Given the description of an element on the screen output the (x, y) to click on. 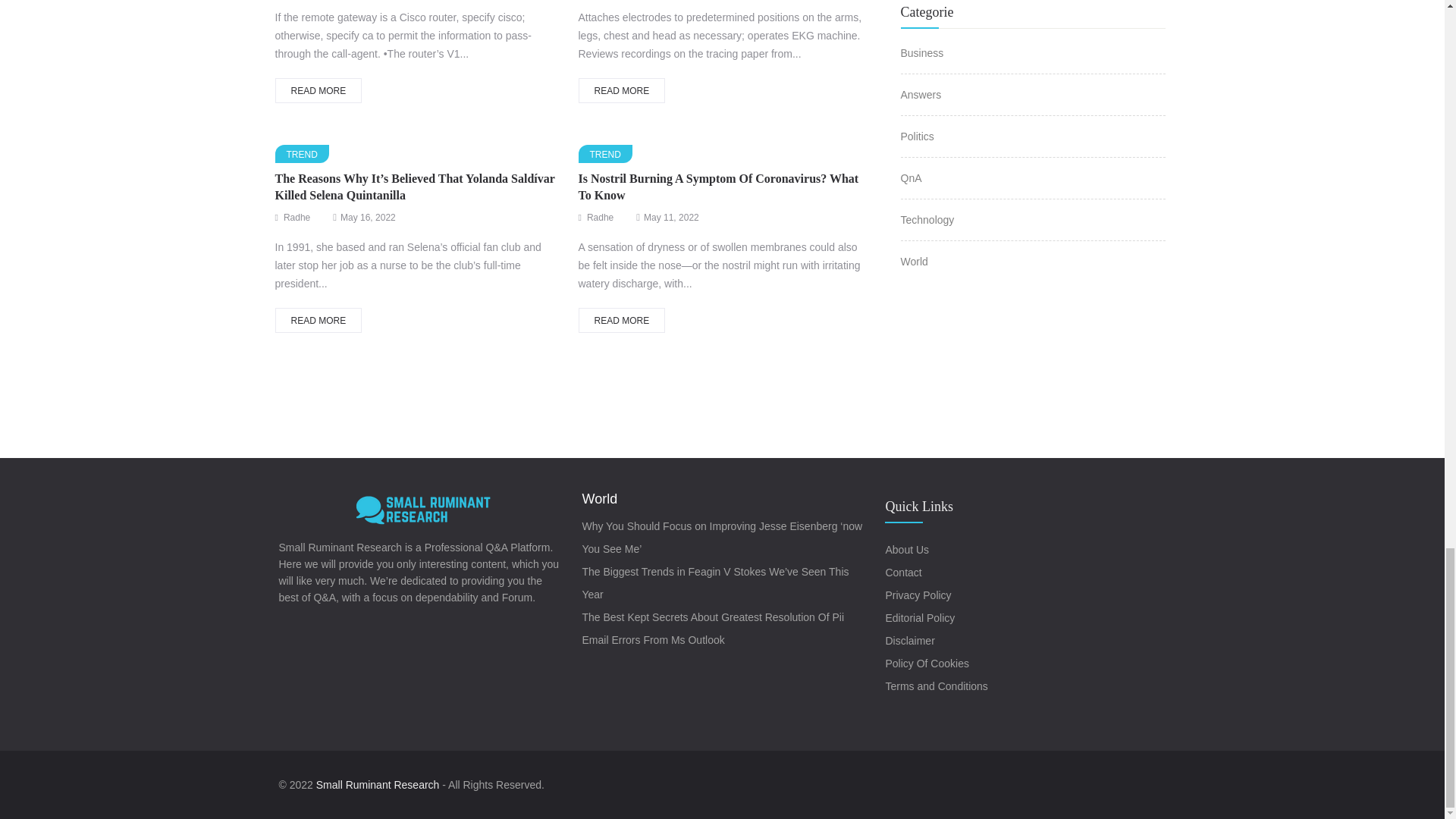
READ MORE (318, 90)
READ MORE (621, 90)
TREND (302, 153)
